Given the description of an element on the screen output the (x, y) to click on. 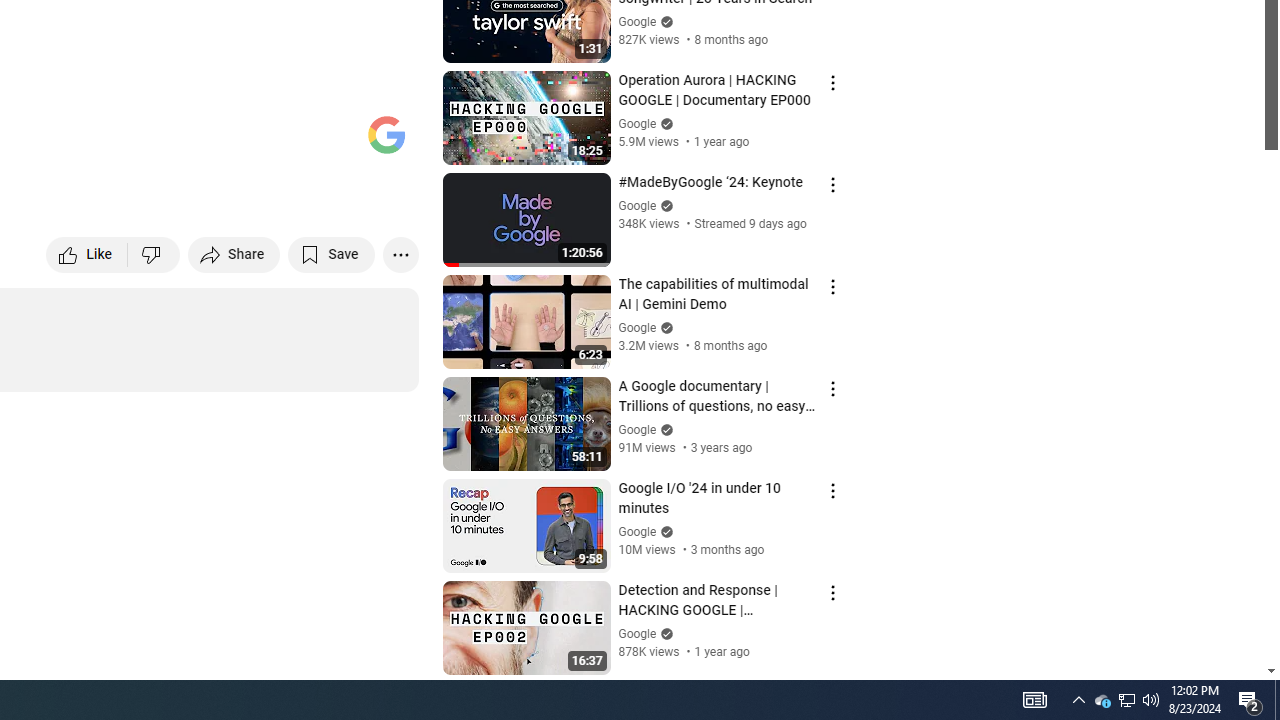
Channel watermark (386, 134)
More actions (399, 254)
